Given the description of an element on the screen output the (x, y) to click on. 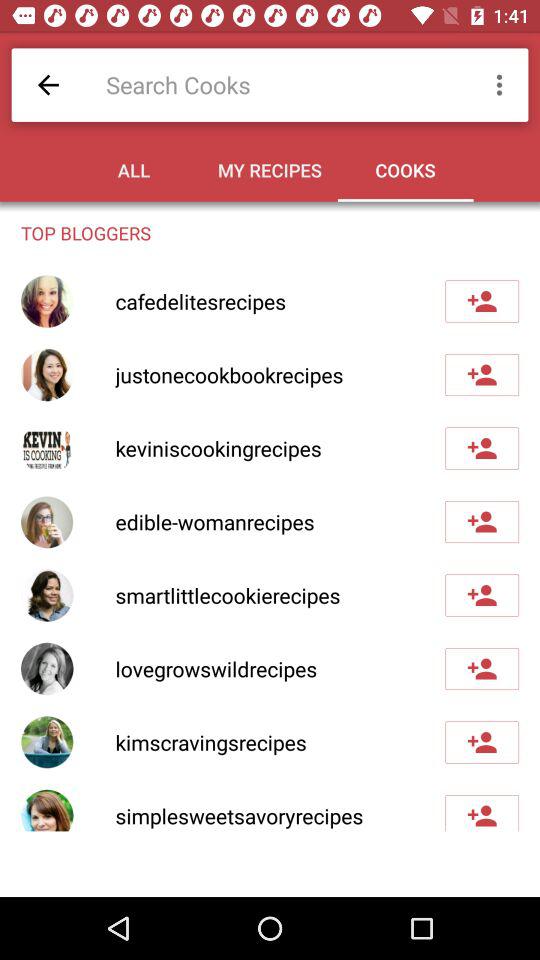
add blogger to my list (482, 522)
